Given the description of an element on the screen output the (x, y) to click on. 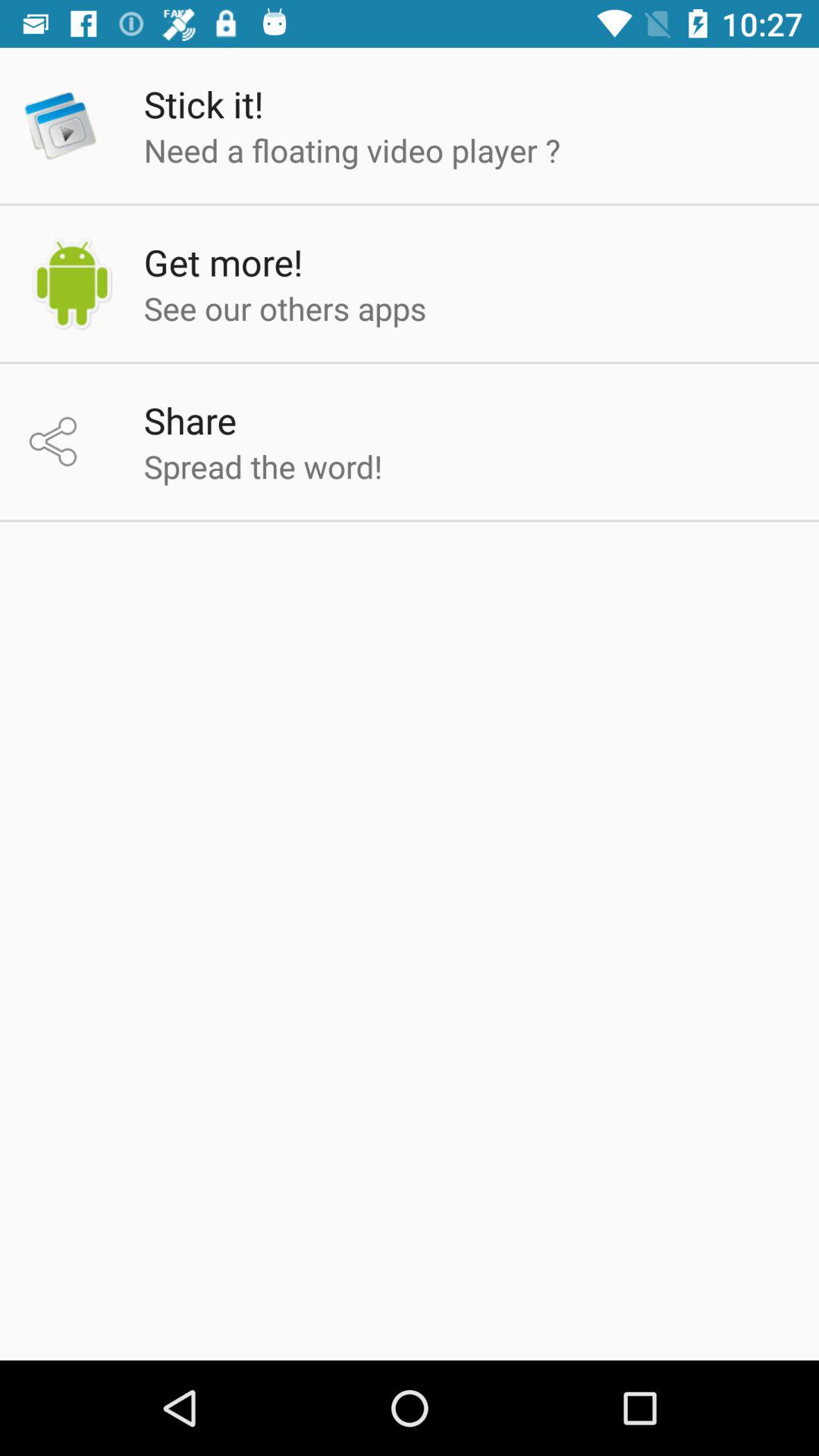
click the item below the get more! app (284, 307)
